Given the description of an element on the screen output the (x, y) to click on. 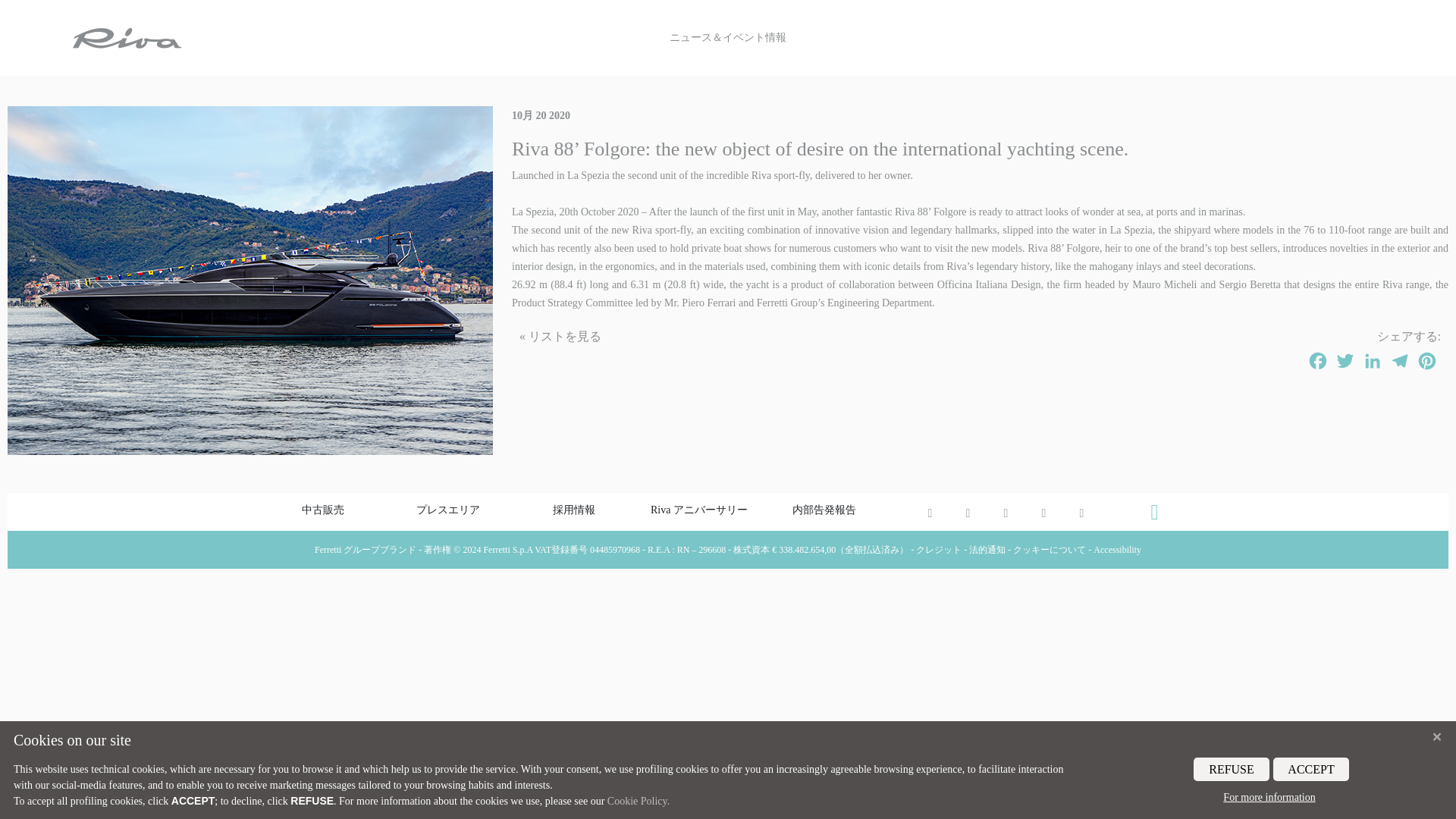
FACEBOOK (1318, 360)
LINKEDIN (1372, 360)
TWITTER (1345, 360)
TELEGRAM (1399, 360)
